Given the description of an element on the screen output the (x, y) to click on. 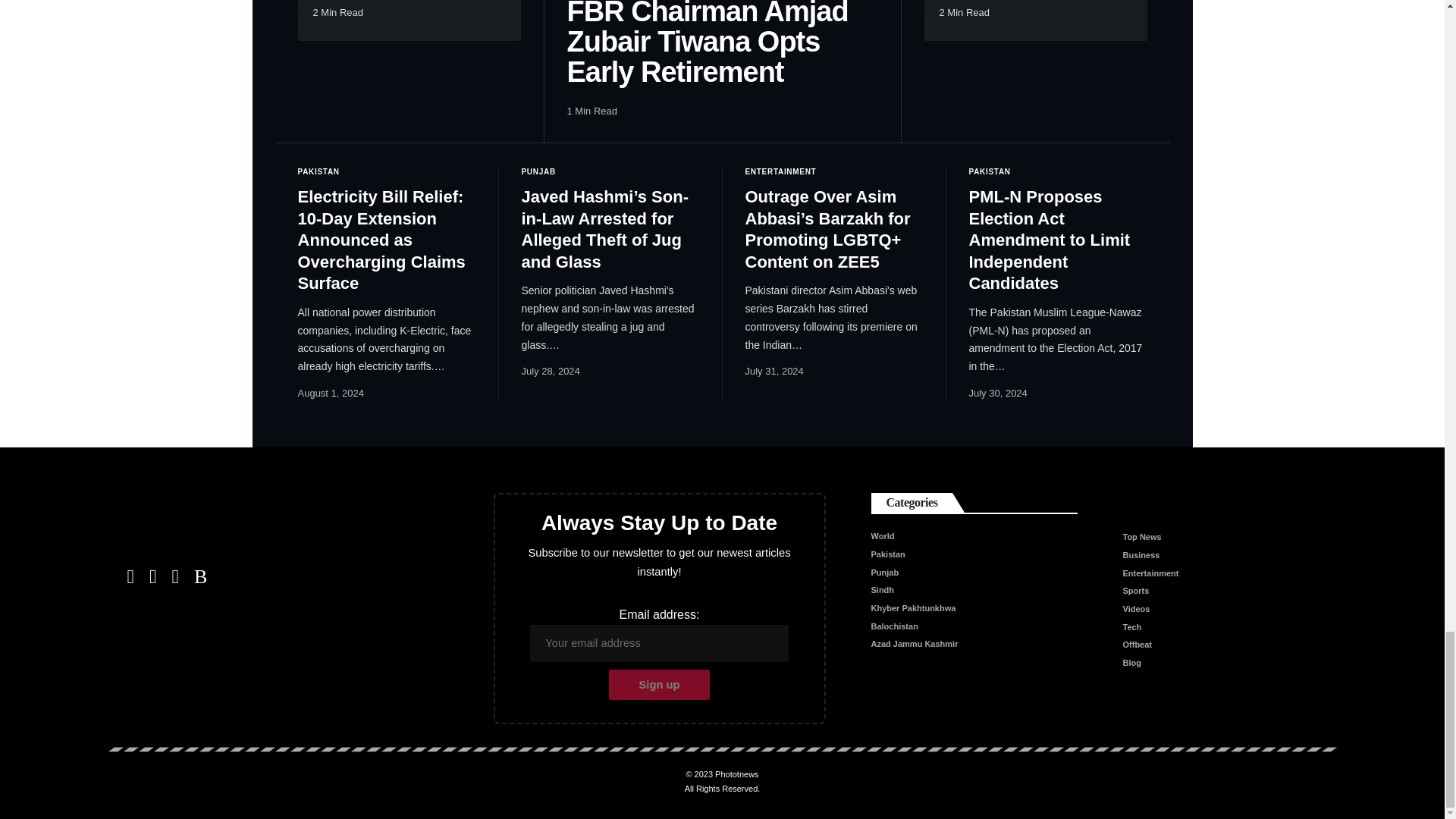
Sign up (659, 684)
